Given the description of an element on the screen output the (x, y) to click on. 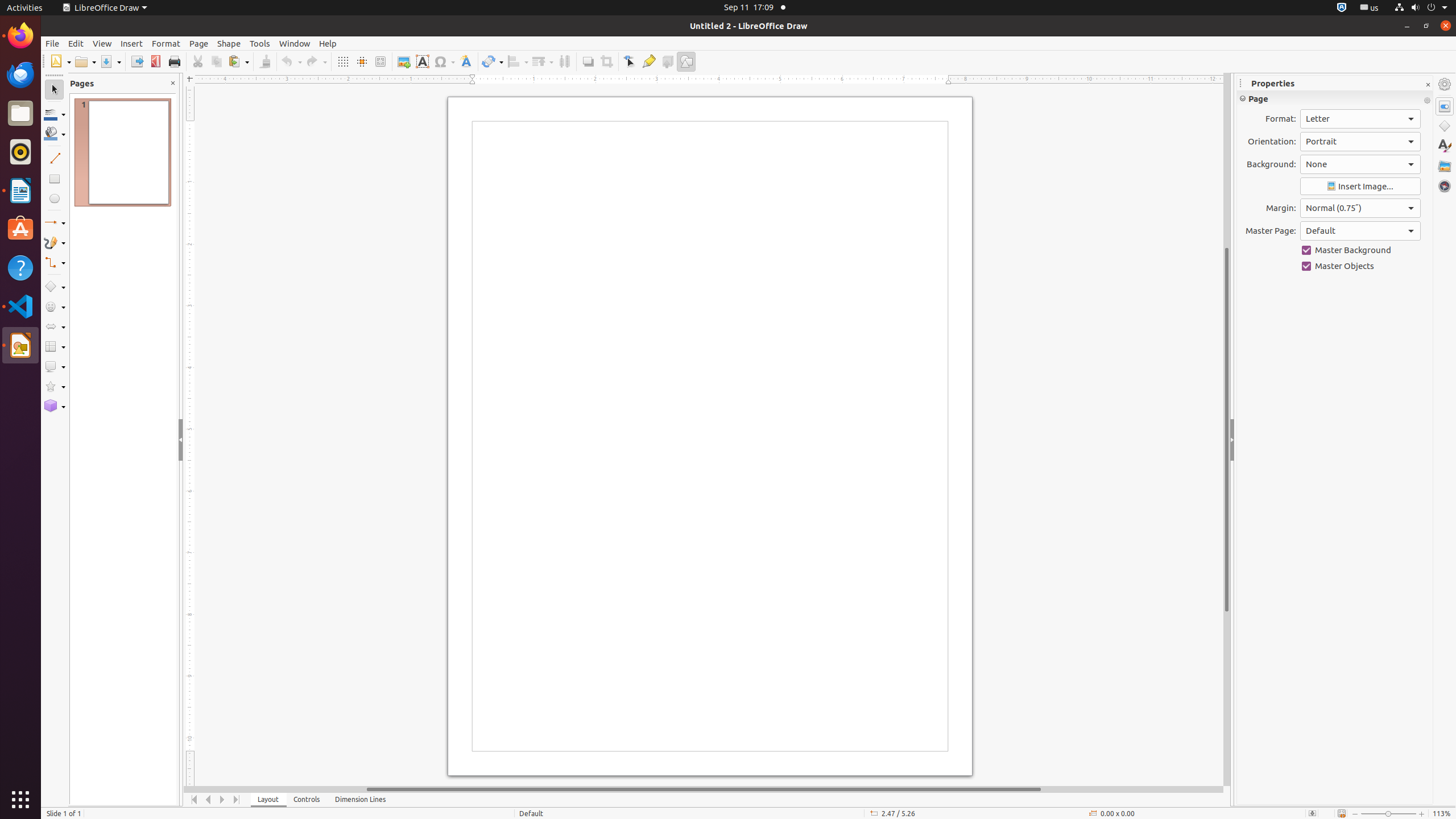
Fill Color Element type: push-button (146, 81)
Horizontal Ruler Element type: ruler (703, 79)
Page Element type: menu (198, 43)
Arrow Shapes Element type: push-button (54, 326)
Background: Element type: combo-box (1360, 164)
